Given the description of an element on the screen output the (x, y) to click on. 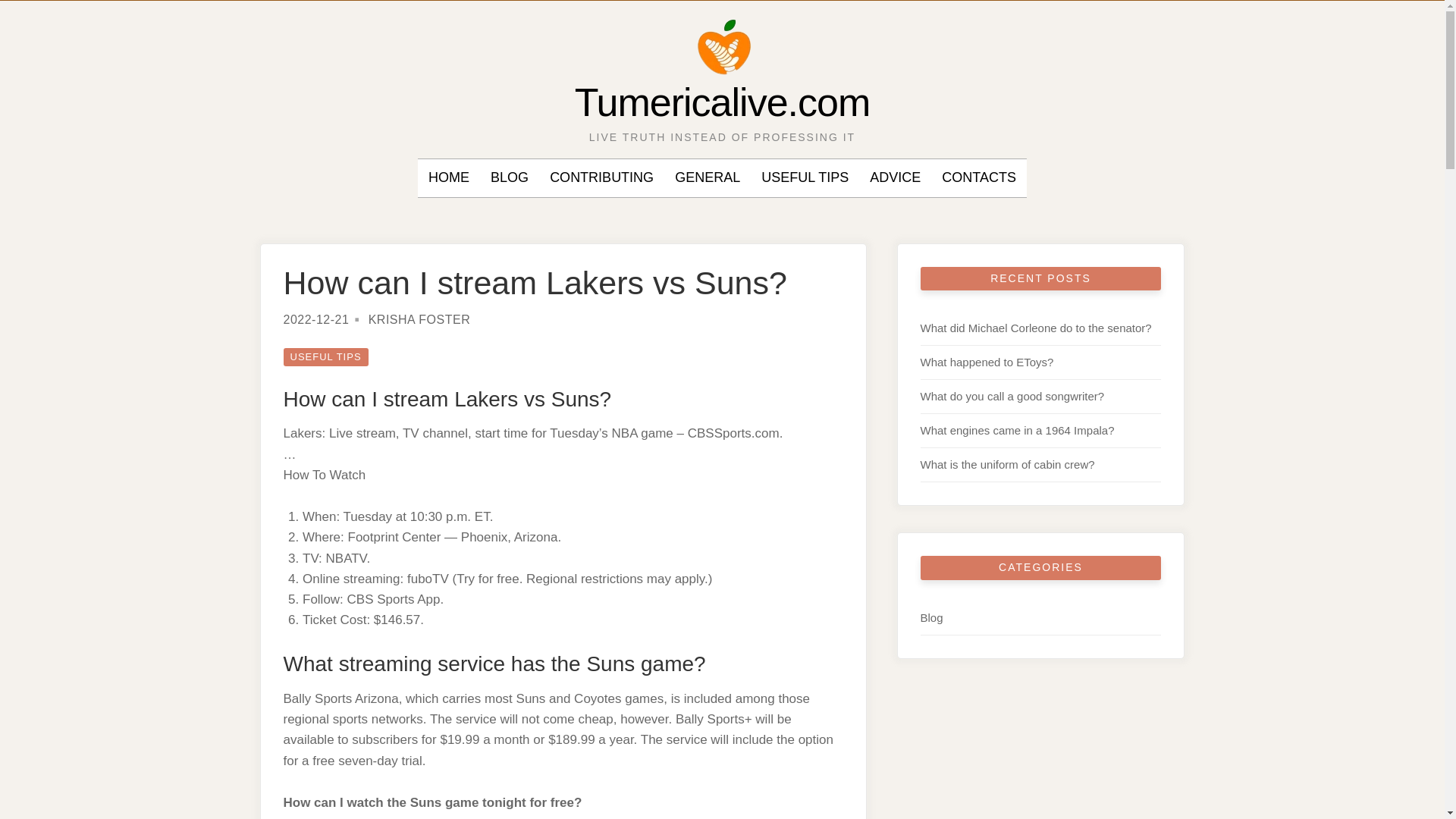
Blog (931, 617)
HOME (448, 177)
CONTACTS (979, 177)
What did Michael Corleone do to the senator? (1035, 327)
USEFUL TIPS (325, 357)
ADVICE (894, 177)
2022-12-21 (316, 318)
What is the uniform of cabin crew? (1007, 463)
What engines came in a 1964 Impala? (1017, 430)
GENERAL (707, 177)
